Given the description of an element on the screen output the (x, y) to click on. 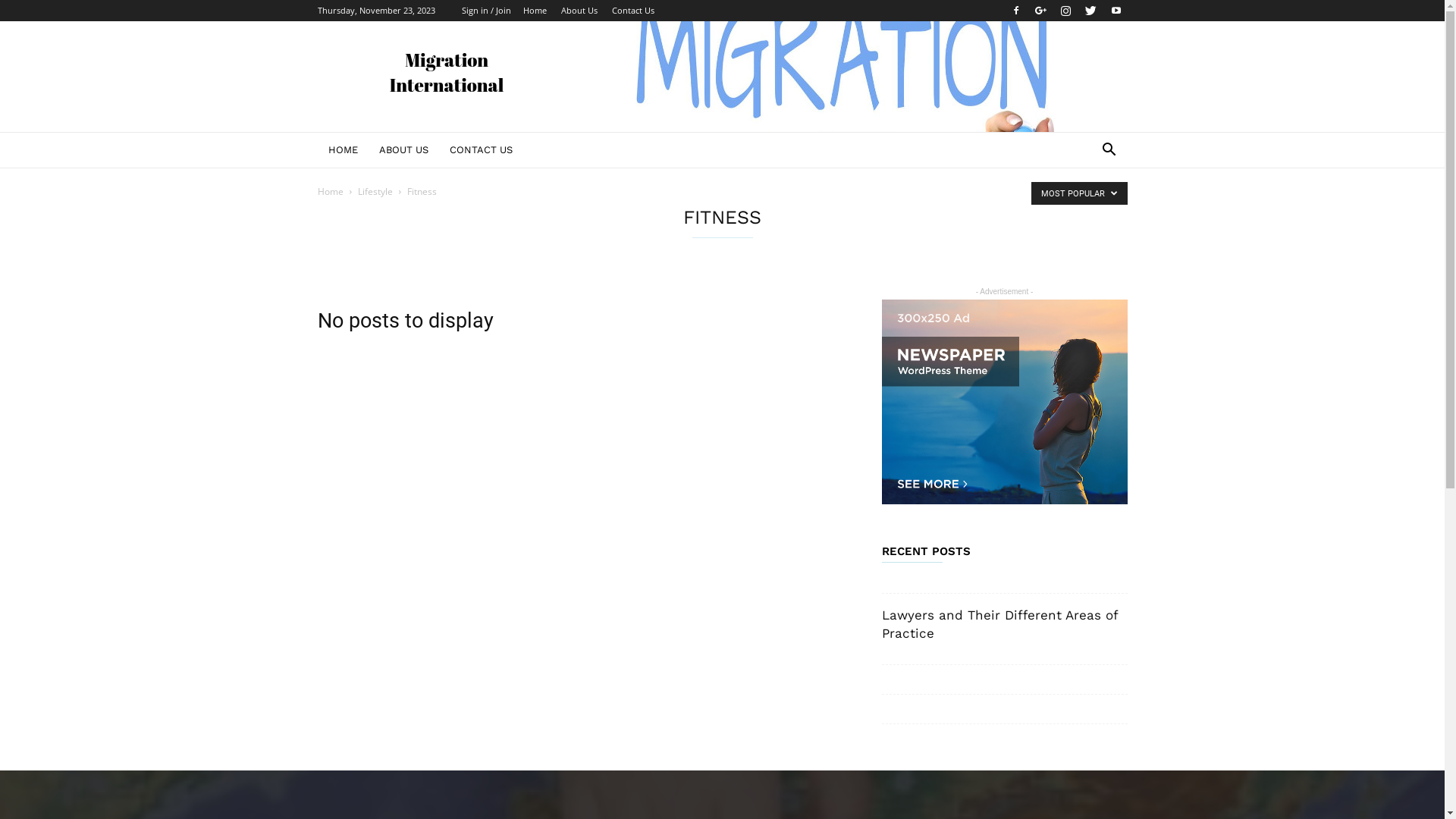
About Us Element type: text (579, 9)
Lawyers and Their Different Areas of Practice Element type: text (999, 623)
Home Element type: text (329, 191)
Sign in / Join Element type: text (485, 9)
Contact Us Element type: text (632, 9)
Home Element type: text (534, 9)
Search Element type: text (1085, 210)
Facebook Element type: hover (1015, 10)
HOME Element type: text (341, 149)
Twitter Element type: hover (1090, 10)
CONTACT US Element type: text (480, 149)
Youtube Element type: hover (1115, 10)
Instagram Element type: hover (1065, 10)
Google+ Element type: hover (1040, 10)
ABOUT US Element type: text (403, 149)
Lifestyle Element type: text (374, 191)
